Given the description of an element on the screen output the (x, y) to click on. 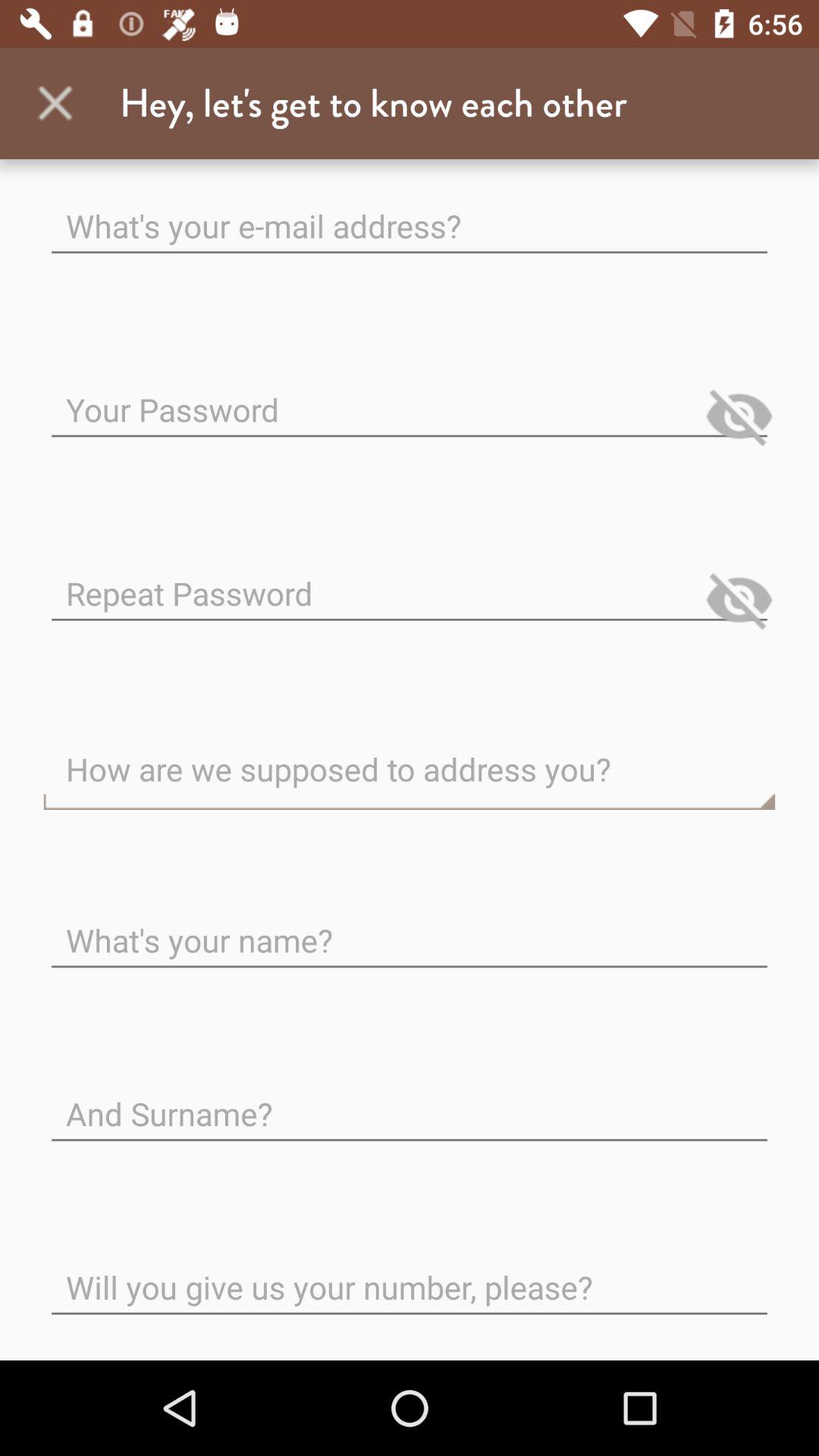
choose the icon at the top left corner (55, 103)
